Given the description of an element on the screen output the (x, y) to click on. 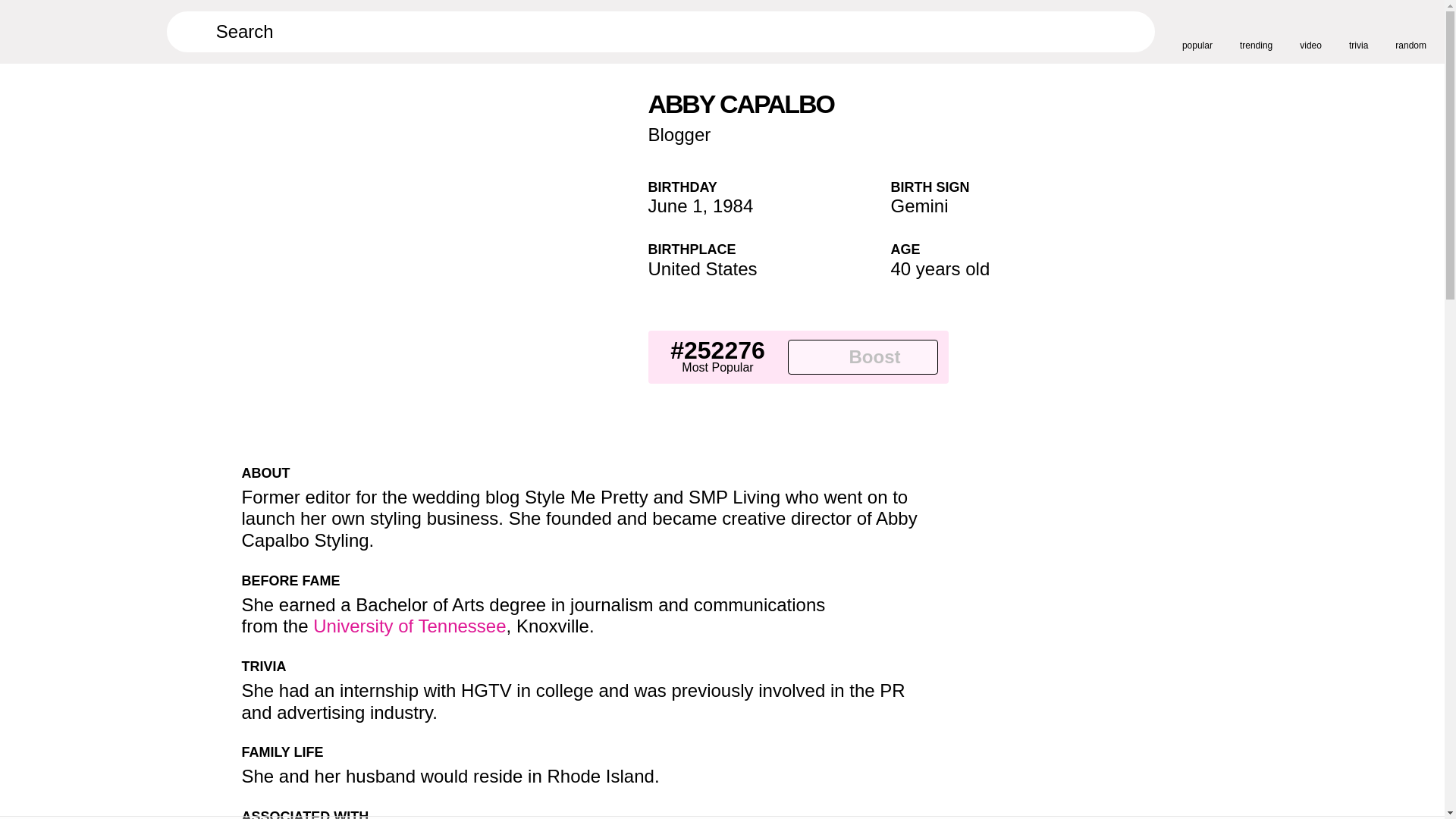
1984 (732, 205)
Blogger (678, 134)
40 years old (939, 268)
United States (702, 268)
Gemini (918, 205)
University of Tennessee (409, 625)
Boost (862, 356)
June 1 (674, 205)
